Given the description of an element on the screen output the (x, y) to click on. 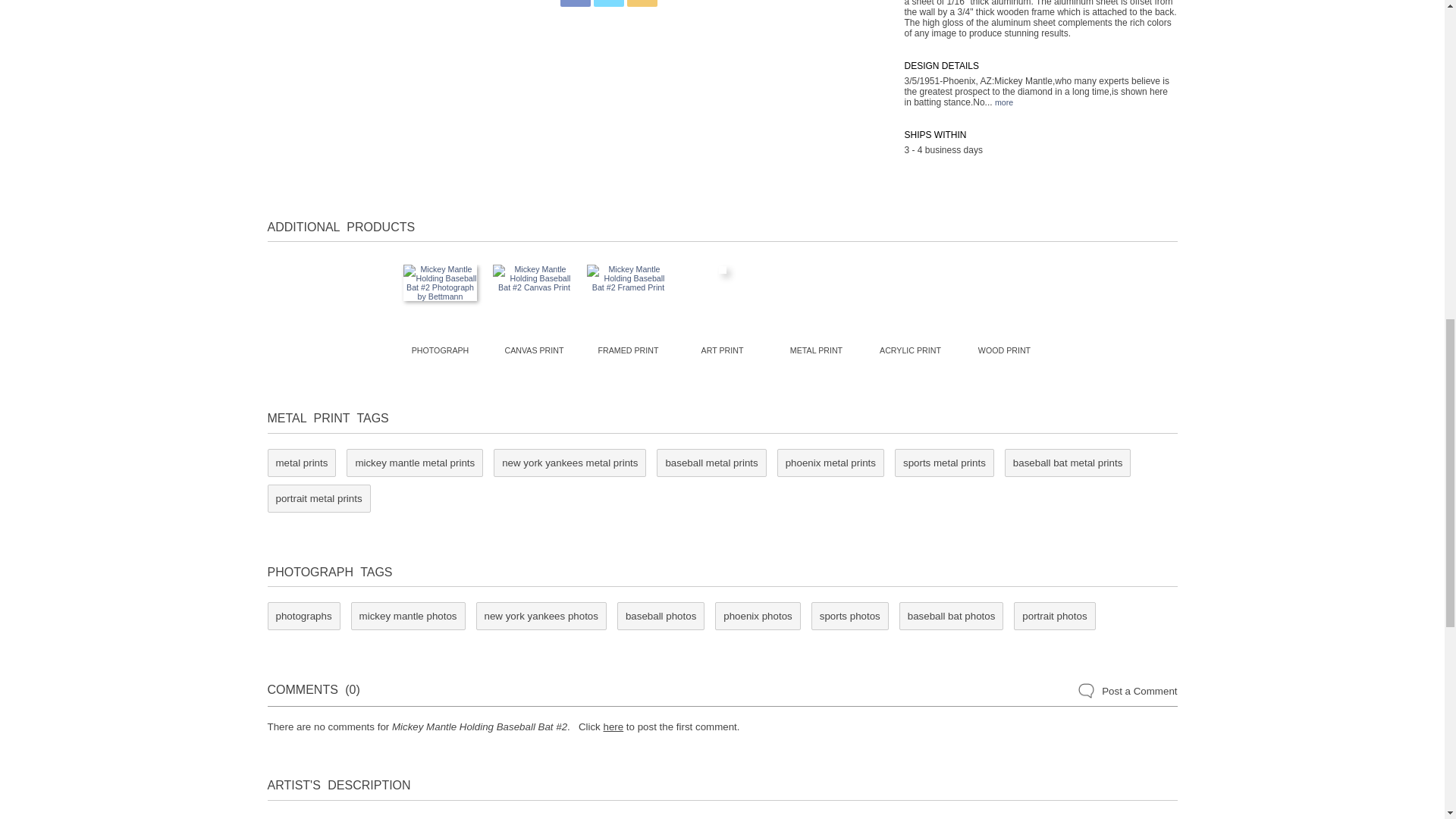
Share Product on Pinterest (641, 3)
Share Product on Facebook (574, 3)
Share Product on Twitter (607, 3)
